Given the description of an element on the screen output the (x, y) to click on. 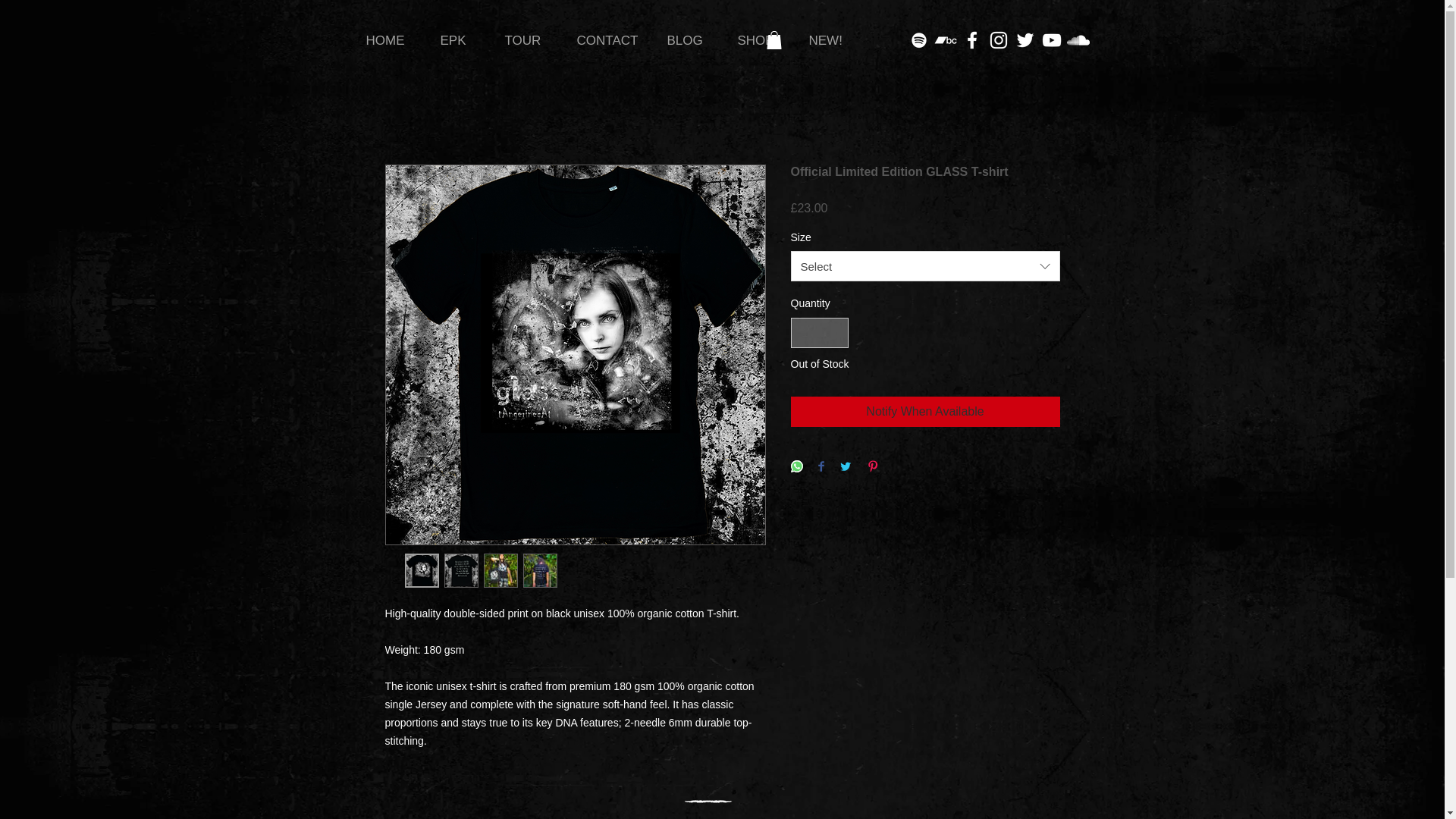
EPK (461, 40)
Select (924, 265)
NEW! (832, 40)
BLOG (690, 40)
CONTACT (611, 40)
Notify When Available (924, 411)
1 (818, 332)
TOUR (528, 40)
HOME (392, 40)
SHOP (761, 40)
